Given the description of an element on the screen output the (x, y) to click on. 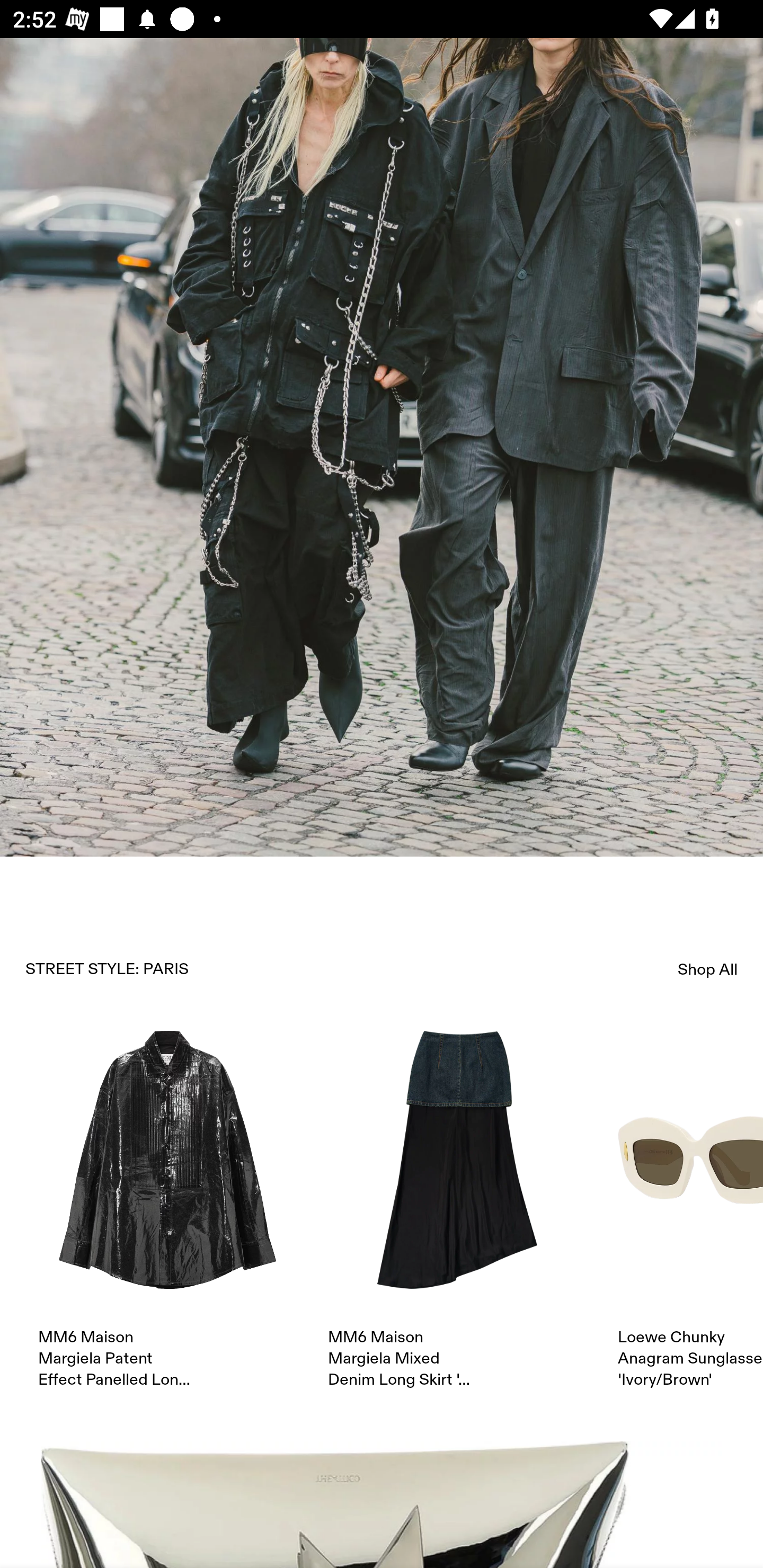
Shop All (707, 968)
MM6 Maison Margiela Mixed Denim Long Skirt 'Blue' (456, 1210)
Loewe Chunky Anagram Sunglasses 'Ivory/Brown' (690, 1210)
